Given the description of an element on the screen output the (x, y) to click on. 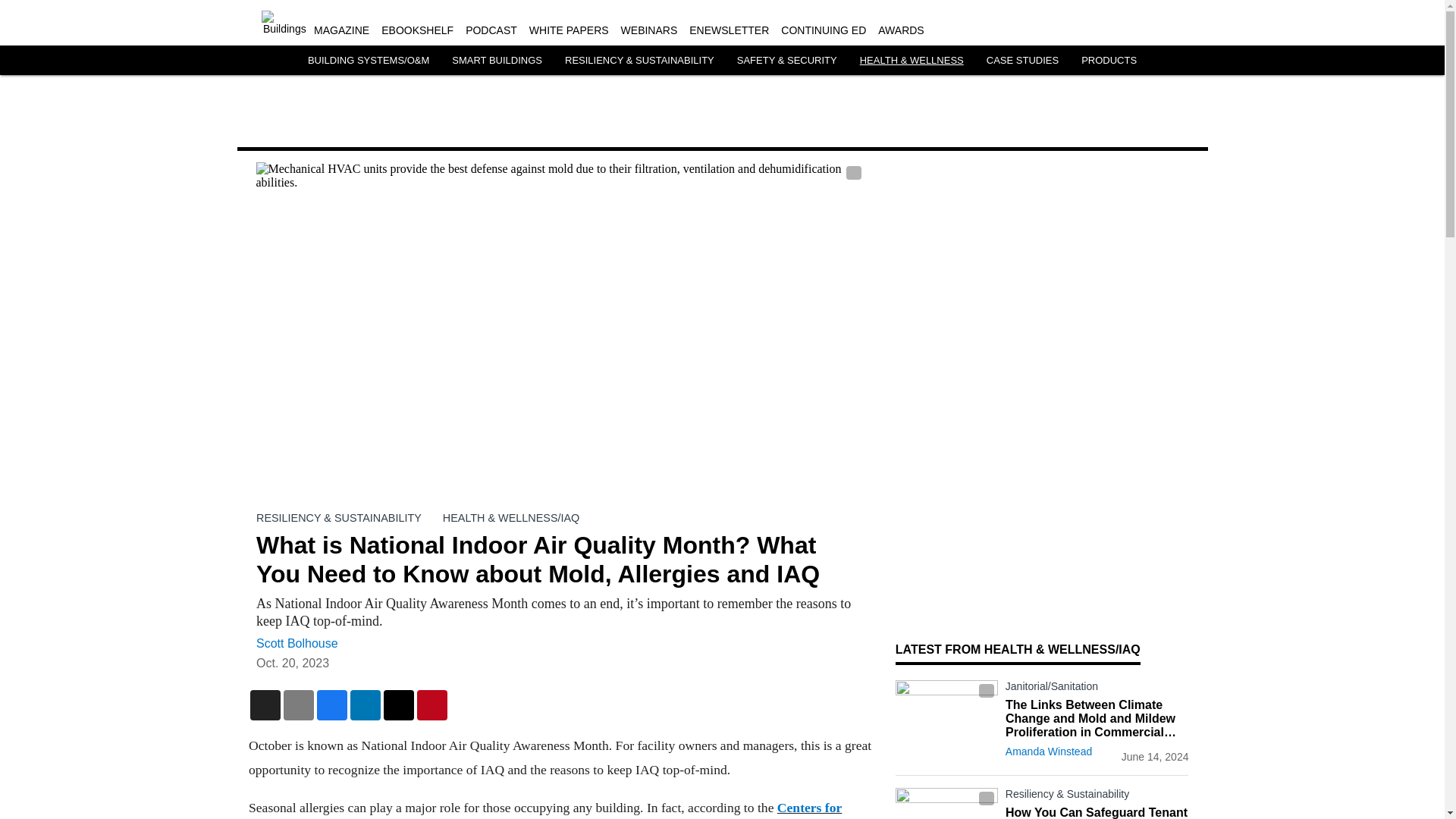
SMART BUILDINGS (496, 60)
WEBINARS (649, 30)
PRODUCTS (1109, 60)
WHITE PAPERS (568, 30)
ENEWSLETTER (728, 30)
CONTINUING ED (823, 30)
PODCAST (490, 30)
CASE STUDIES (1022, 60)
Centers for Disease Control and Prevention (544, 809)
EBOOKSHELF (416, 30)
AWARDS (900, 30)
Scott Bolhouse (296, 642)
MAGAZINE (341, 30)
